Given the description of an element on the screen output the (x, y) to click on. 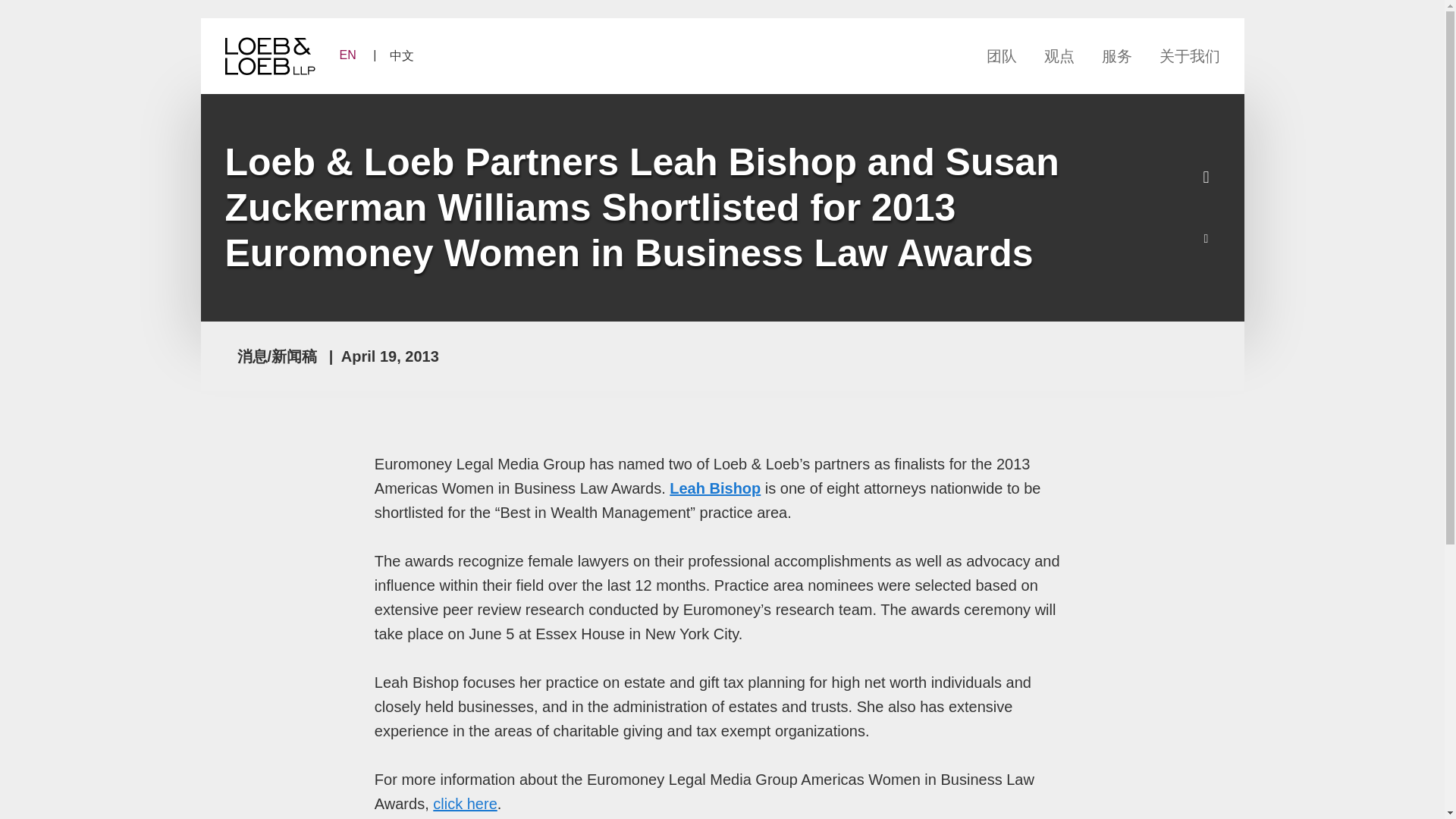
EN (354, 54)
